Given the description of an element on the screen output the (x, y) to click on. 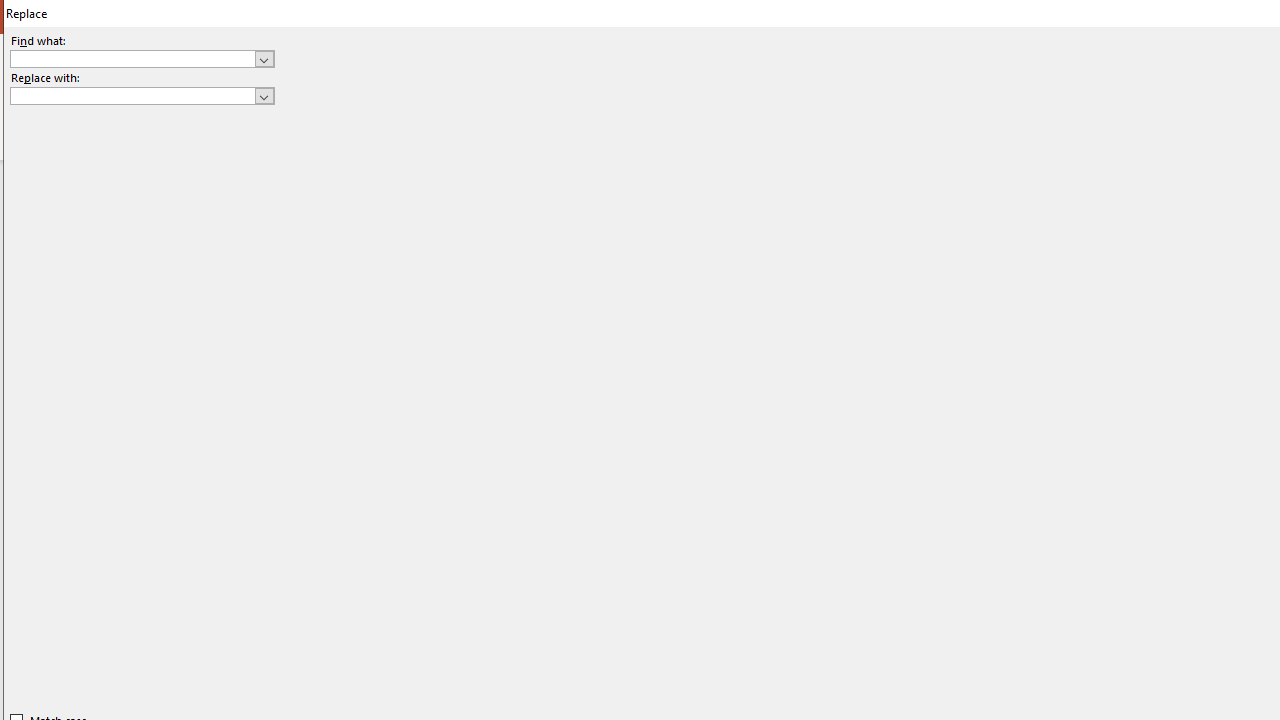
Find what (142, 58)
Replace with (132, 95)
Replace with (142, 96)
Find what (132, 58)
